Given the description of an element on the screen output the (x, y) to click on. 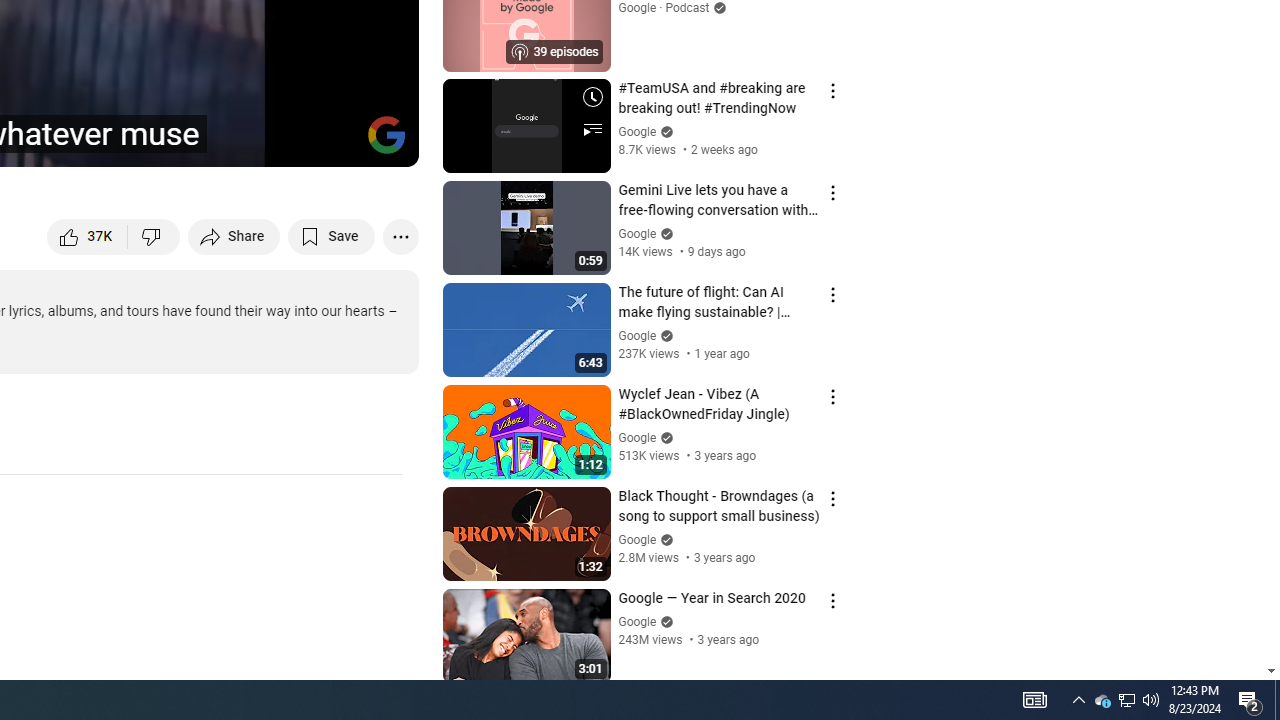
Subtitles/closed captions unavailable (190, 142)
Autoplay is on (141, 142)
Full screen (f) (382, 142)
Channel watermark (386, 134)
